Given the description of an element on the screen output the (x, y) to click on. 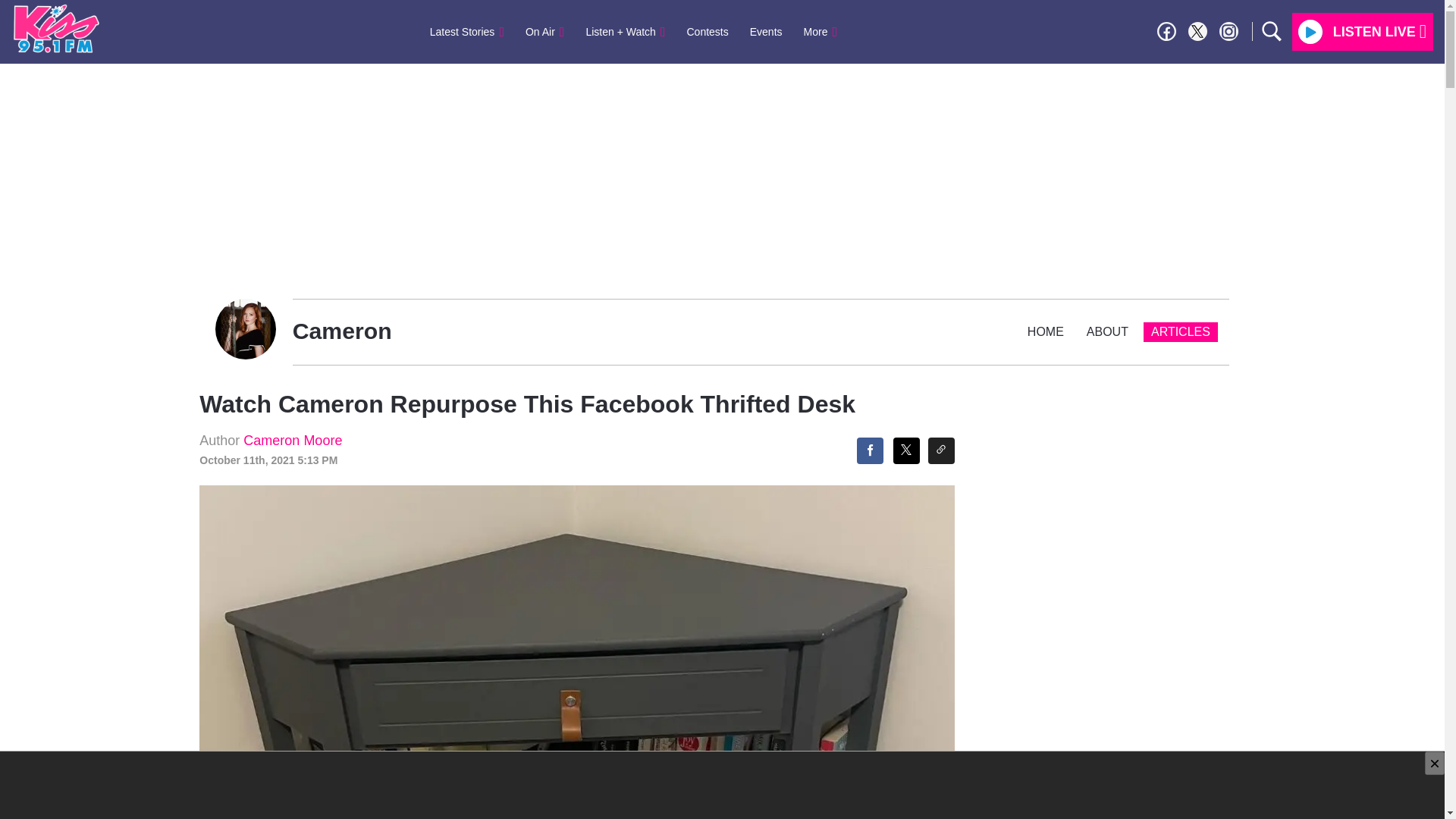
Events (766, 31)
More (820, 31)
Cameron Moore (292, 440)
On Air (545, 31)
Contests (708, 31)
Latest Stories (467, 31)
